Given the description of an element on the screen output the (x, y) to click on. 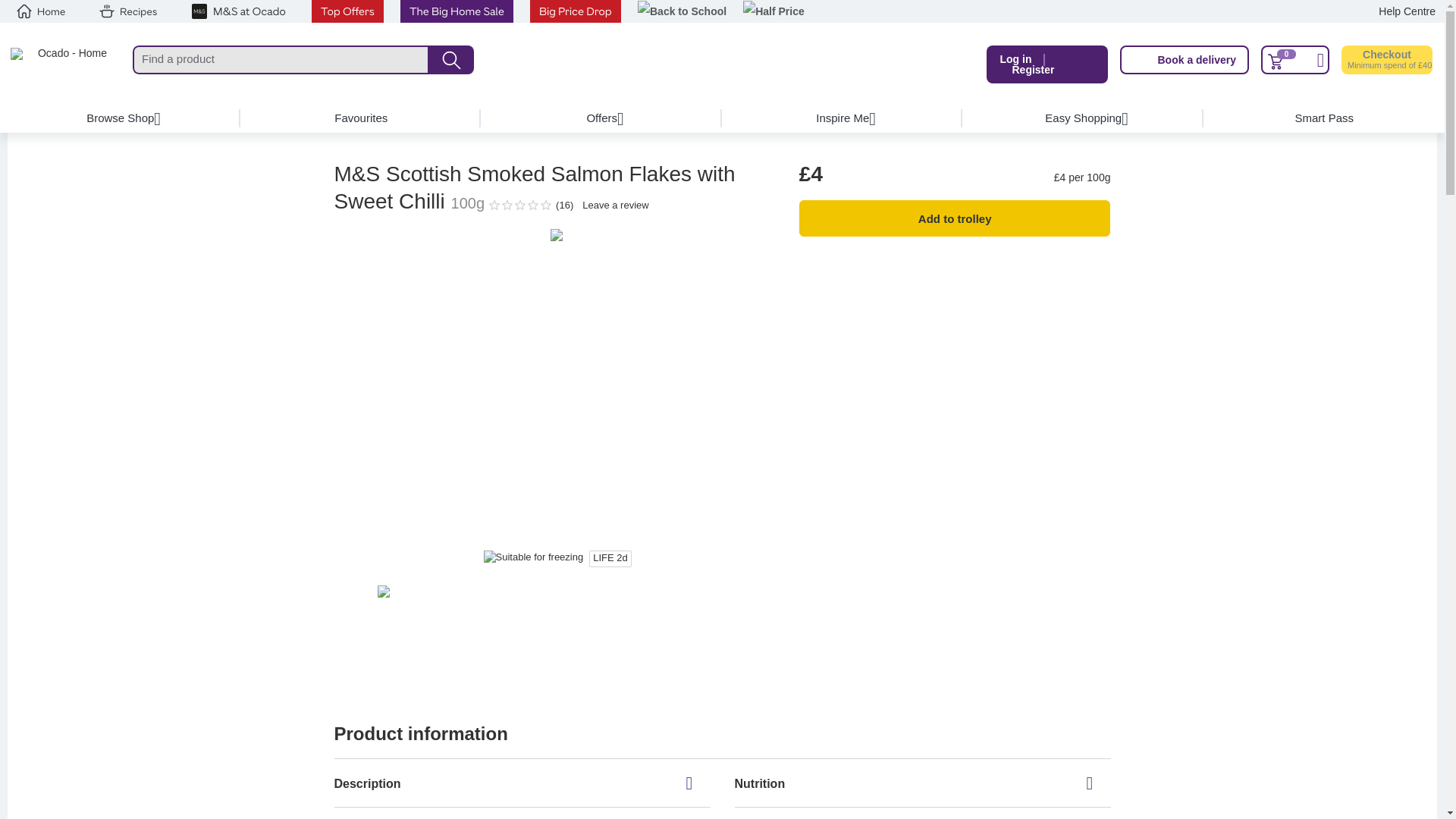
Find a product (280, 59)
Home (41, 11)
Back to School (681, 11)
Suitable for freezing (533, 557)
Reviews 3.9 of 5 (512, 205)
Log in (1014, 59)
Add to trolley (954, 217)
Book a delivery (1184, 59)
Browse Shop (120, 118)
Description (521, 783)
